Given the description of an element on the screen output the (x, y) to click on. 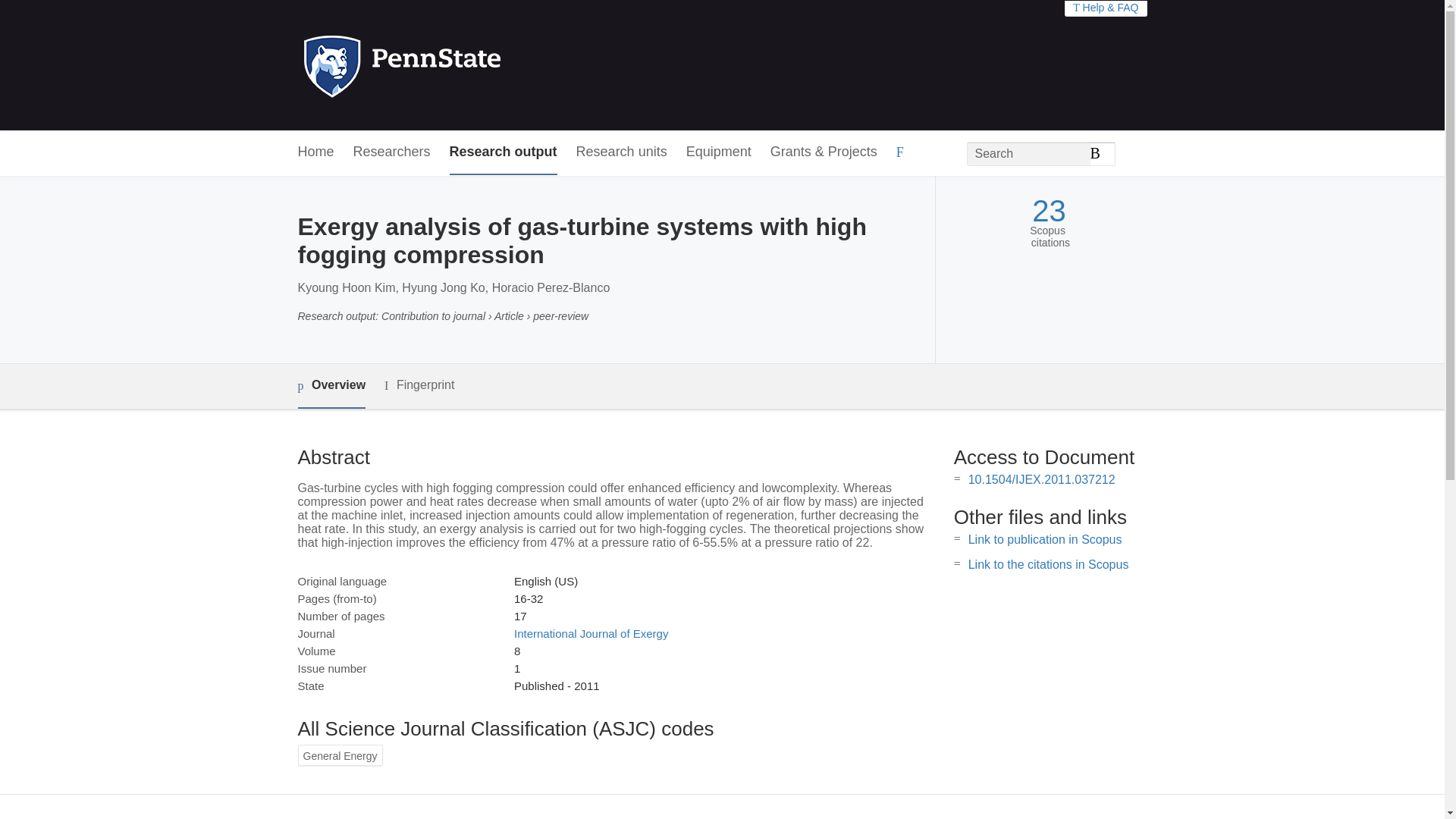
Research units (621, 152)
Equipment (718, 152)
Link to publication in Scopus (1045, 539)
International Journal of Exergy (590, 633)
Penn State Home (467, 65)
Link to the citations in Scopus (1048, 563)
Overview (331, 385)
23 (1048, 211)
Fingerprint (419, 385)
